Given the description of an element on the screen output the (x, y) to click on. 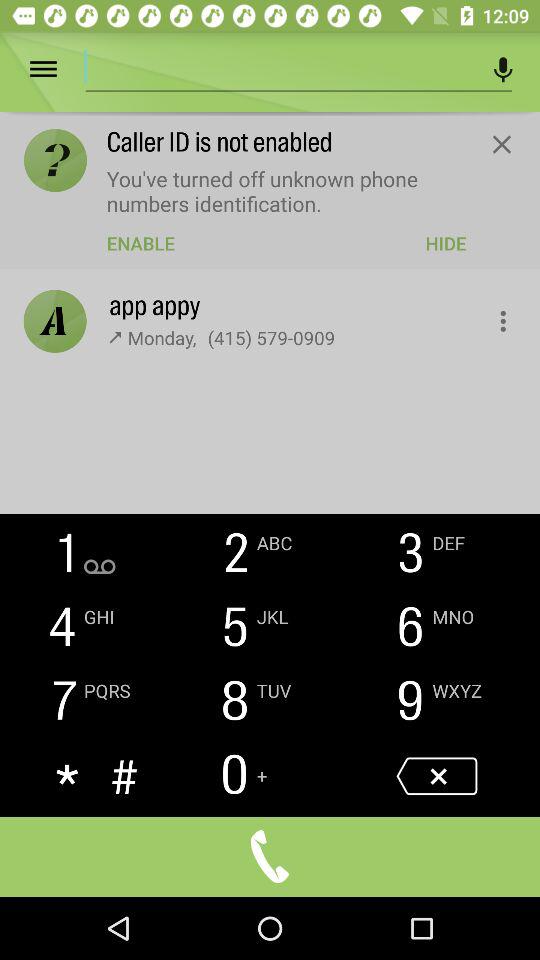
more option (57, 69)
